Given the description of an element on the screen output the (x, y) to click on. 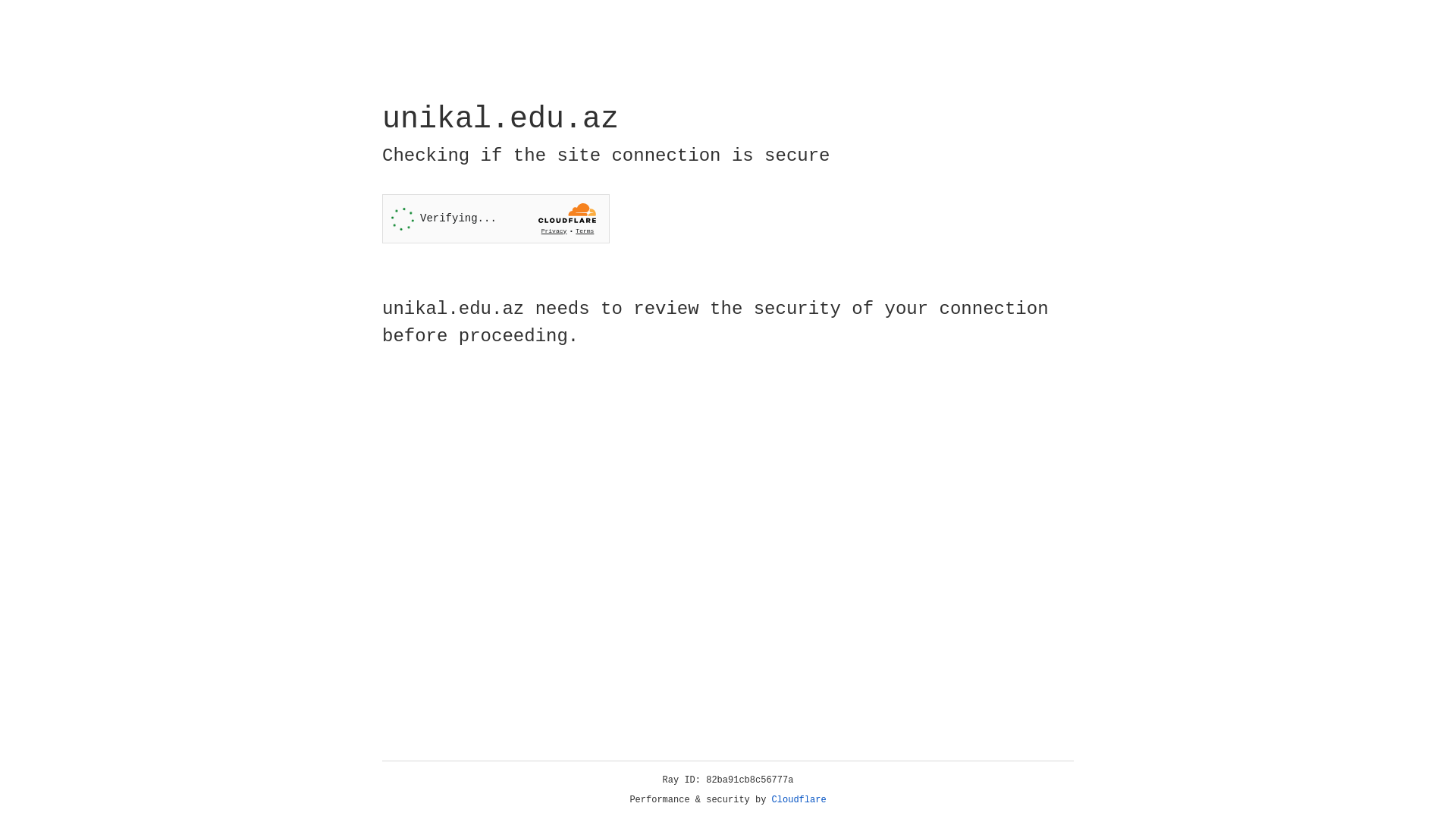
Cloudflare Element type: text (798, 799)
Widget containing a Cloudflare security challenge Element type: hover (495, 218)
